Given the description of an element on the screen output the (x, y) to click on. 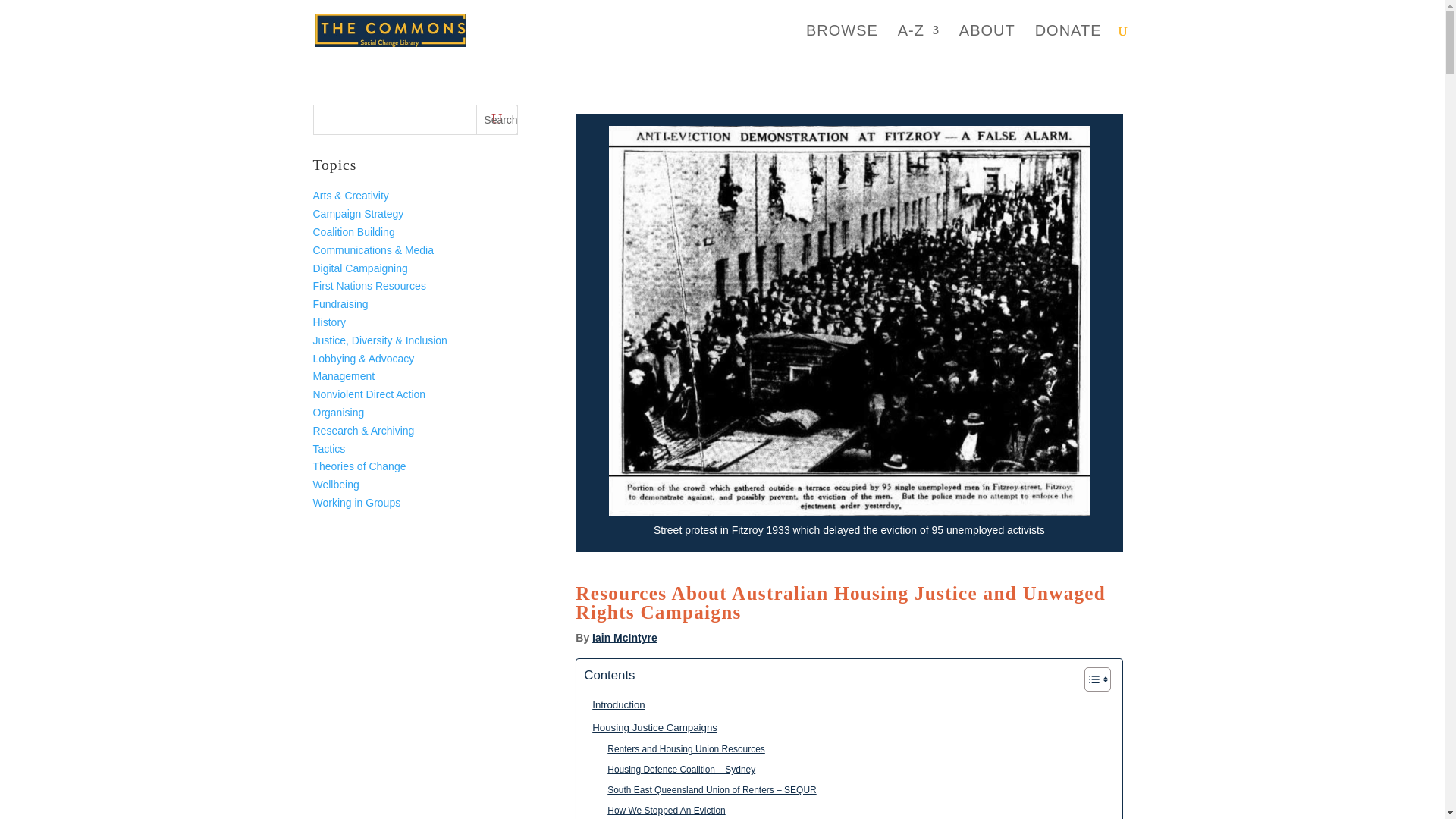
Introduction (614, 704)
DONATE (1068, 42)
How We Stopped An Eviction (661, 810)
ABOUT (986, 42)
Housing Justice Campaigns (650, 727)
Search (497, 119)
Iain McIntyre (625, 637)
BROWSE (841, 42)
A-Z (918, 42)
Renters and Housing Union Resources (681, 749)
How We Stopped An Eviction (661, 810)
Housing Justice Campaigns (650, 727)
Renters and Housing Union Resources (681, 749)
Introduction (614, 704)
